Given the description of an element on the screen output the (x, y) to click on. 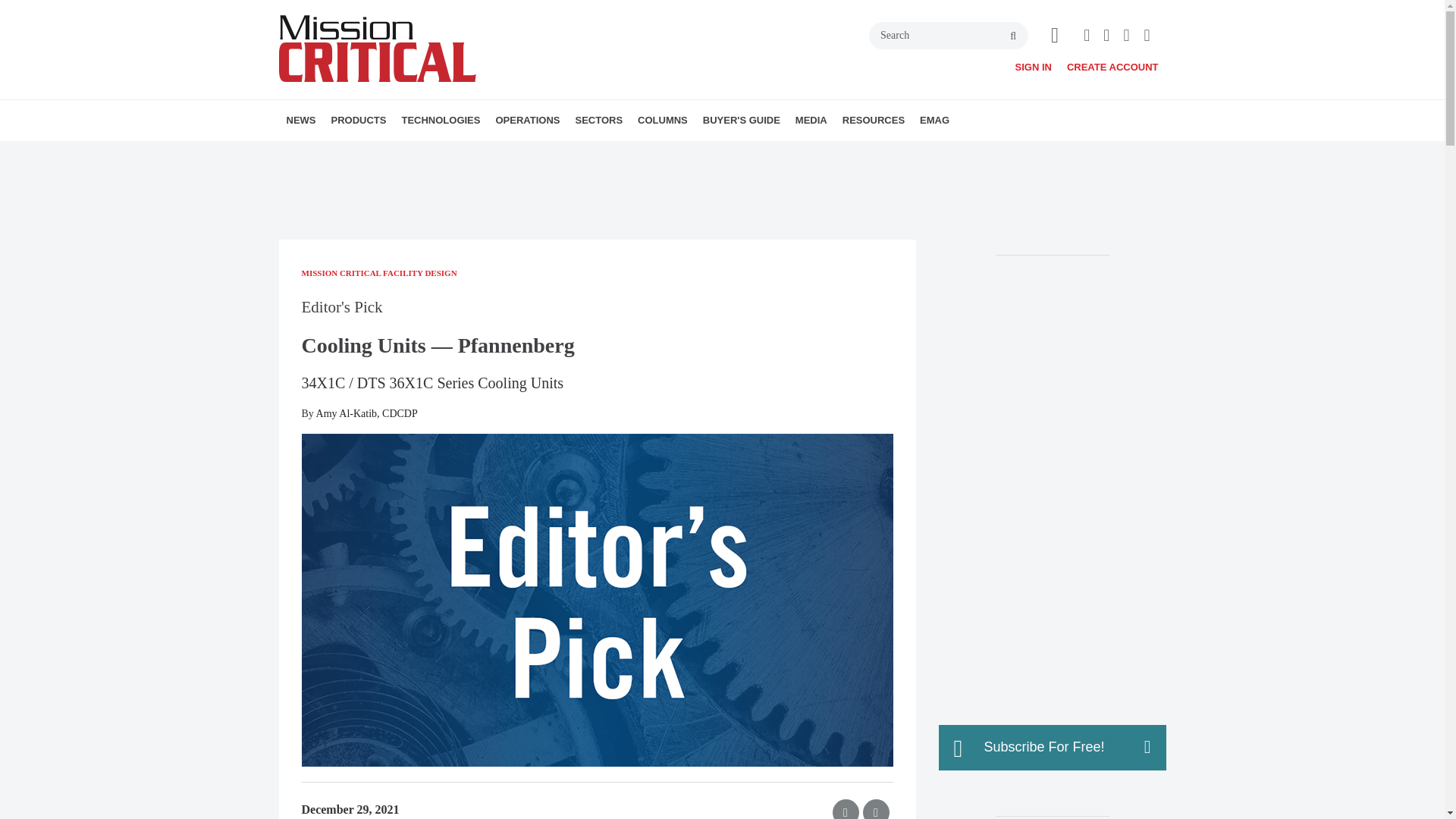
INDUSTRY 4.0 (669, 153)
MANAGEMENT (606, 153)
Search (948, 35)
INFRASTRUCTURE (488, 153)
SUSTAINABILITY (600, 153)
TOP TIER PRODUCT AWARDS (424, 153)
SITE SELECTION (582, 153)
BFSI (662, 153)
EDGE COMPUTING (519, 153)
SIGN IN (1032, 66)
